Given the description of an element on the screen output the (x, y) to click on. 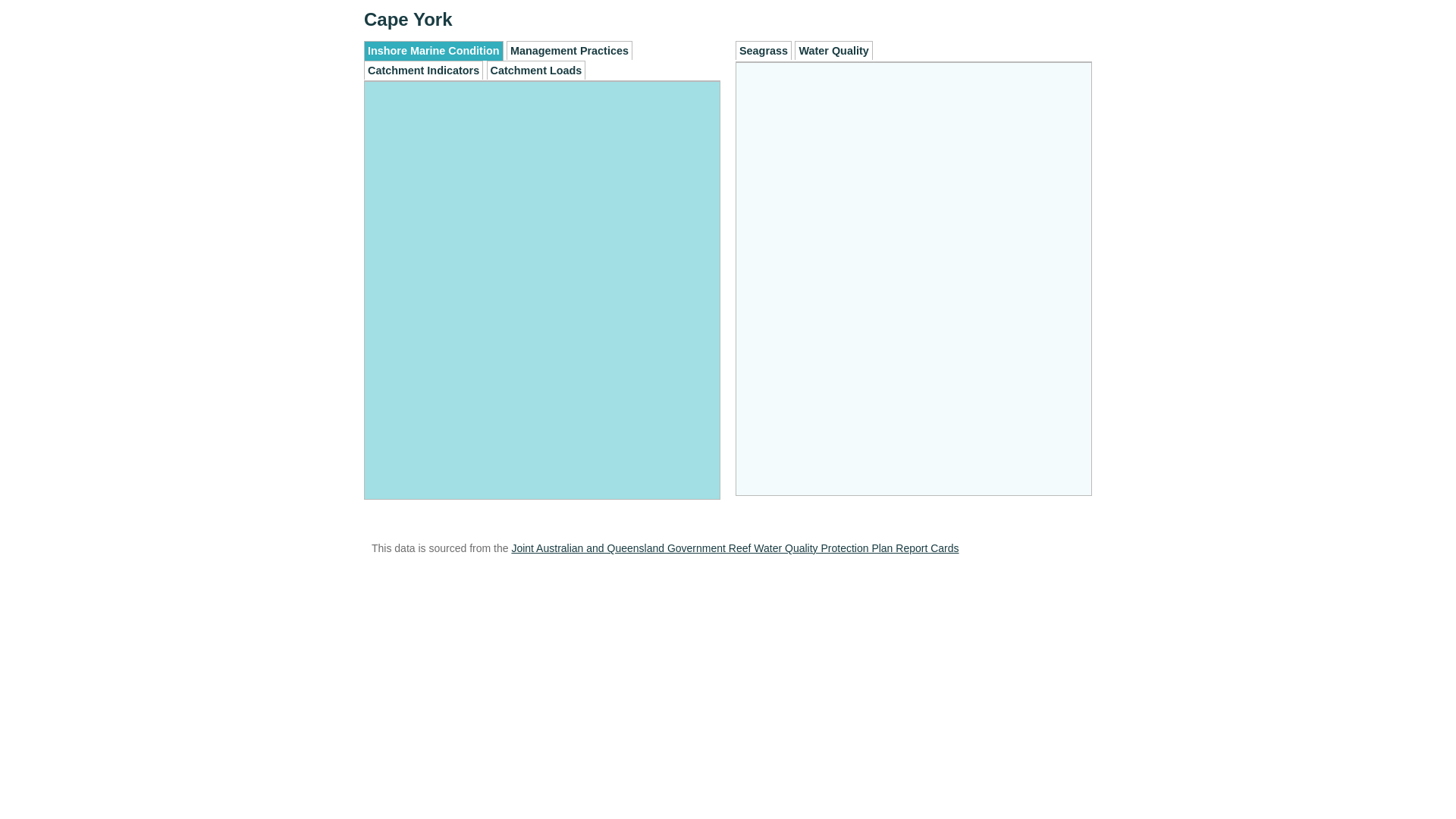
Catchment Indicators Element type: text (423, 69)
Catchment Loads Element type: text (536, 69)
Management Practices Element type: text (569, 49)
Seagrass Element type: text (763, 49)
Water Quality Element type: text (833, 49)
Inshore Marine Condition Element type: text (433, 50)
